Given the description of an element on the screen output the (x, y) to click on. 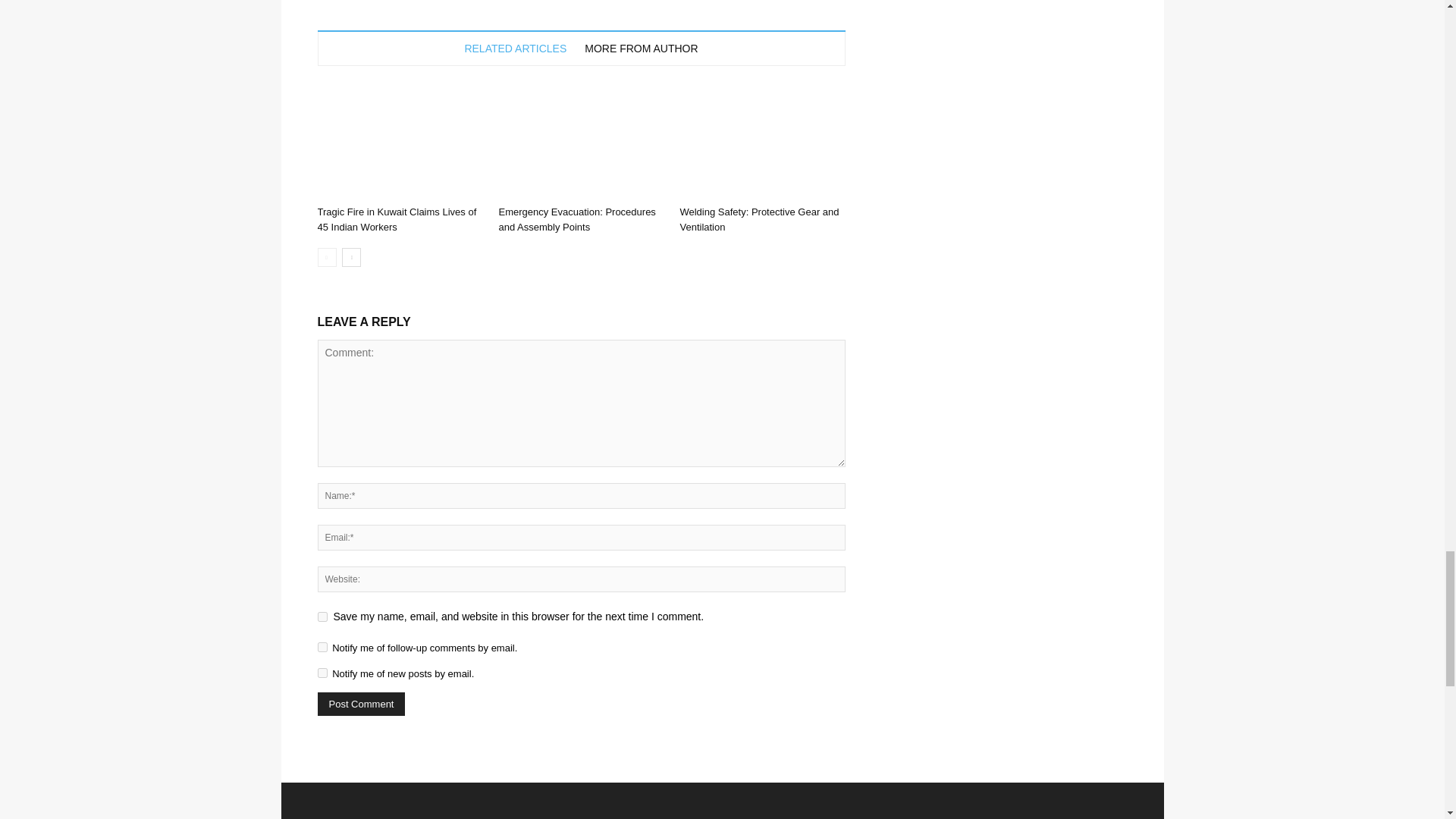
yes (321, 616)
Post Comment (360, 703)
subscribe (321, 646)
subscribe (321, 673)
